Given the description of an element on the screen output the (x, y) to click on. 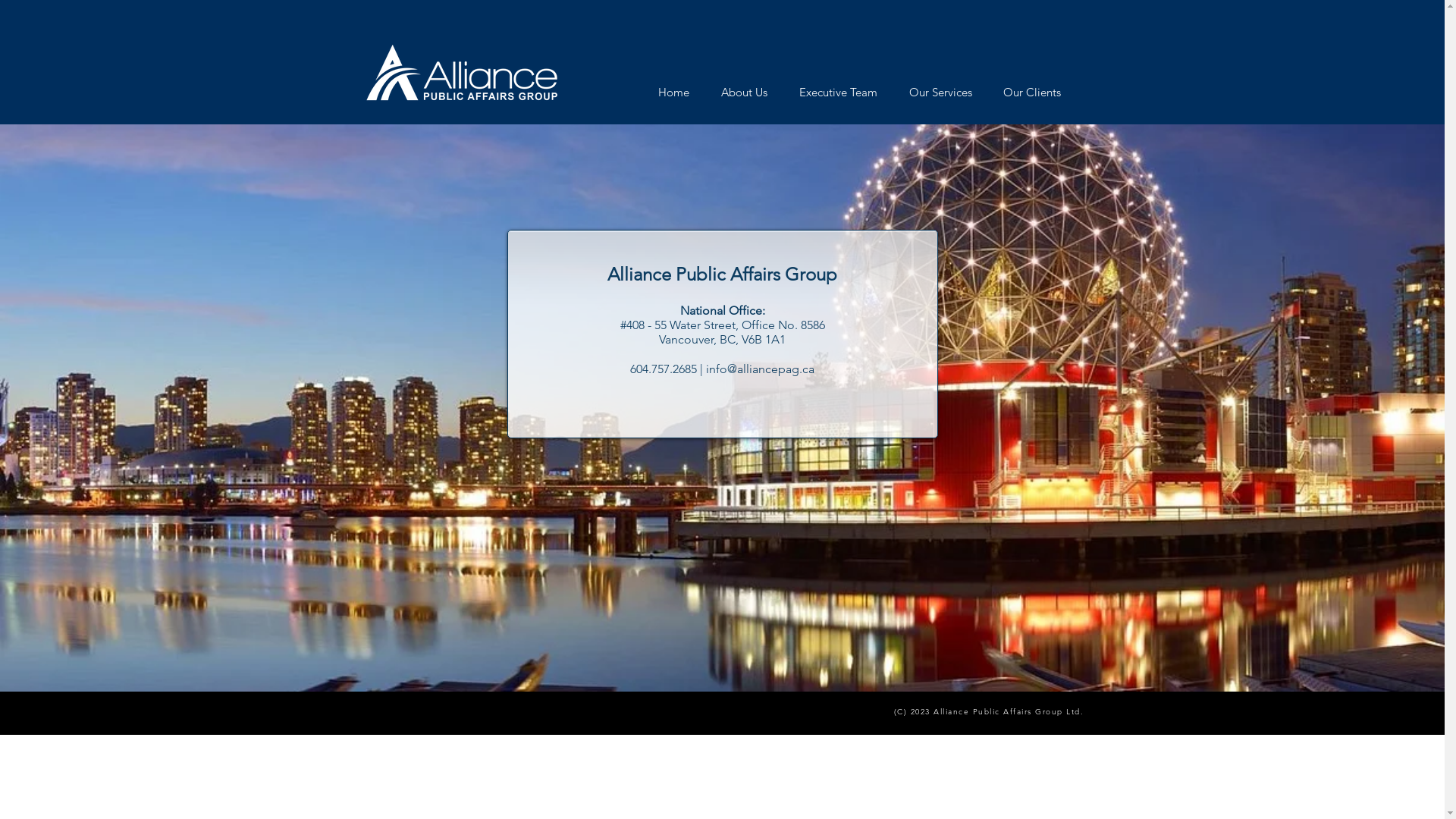
Our Clients Element type: text (1031, 91)
info@alliancepag.ca Element type: text (760, 368)
Home Element type: text (672, 91)
About Us Element type: text (744, 91)
Our Services Element type: text (940, 91)
